Given the description of an element on the screen output the (x, y) to click on. 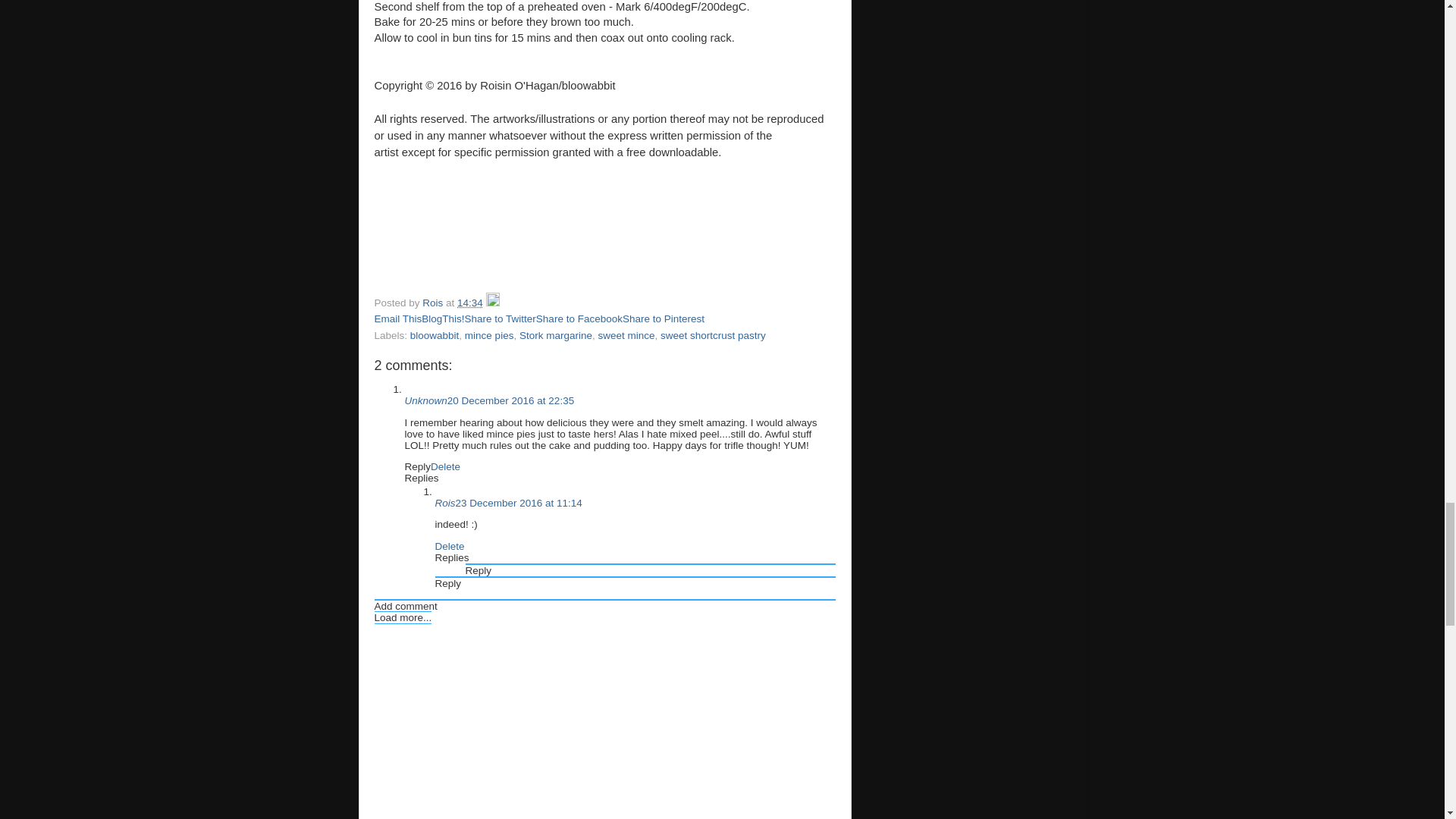
20 December 2016 at 22:35 (509, 400)
Email This (398, 318)
Replies (421, 478)
Share to Pinterest (663, 318)
mince pies (488, 335)
Reply (417, 466)
Share to Facebook (579, 318)
sweet mince (624, 335)
BlogThis! (443, 318)
bloowabbit (435, 335)
Replies (451, 557)
Delete (449, 546)
Rois (445, 502)
Edit Post (492, 302)
Unknown (425, 400)
